Given the description of an element on the screen output the (x, y) to click on. 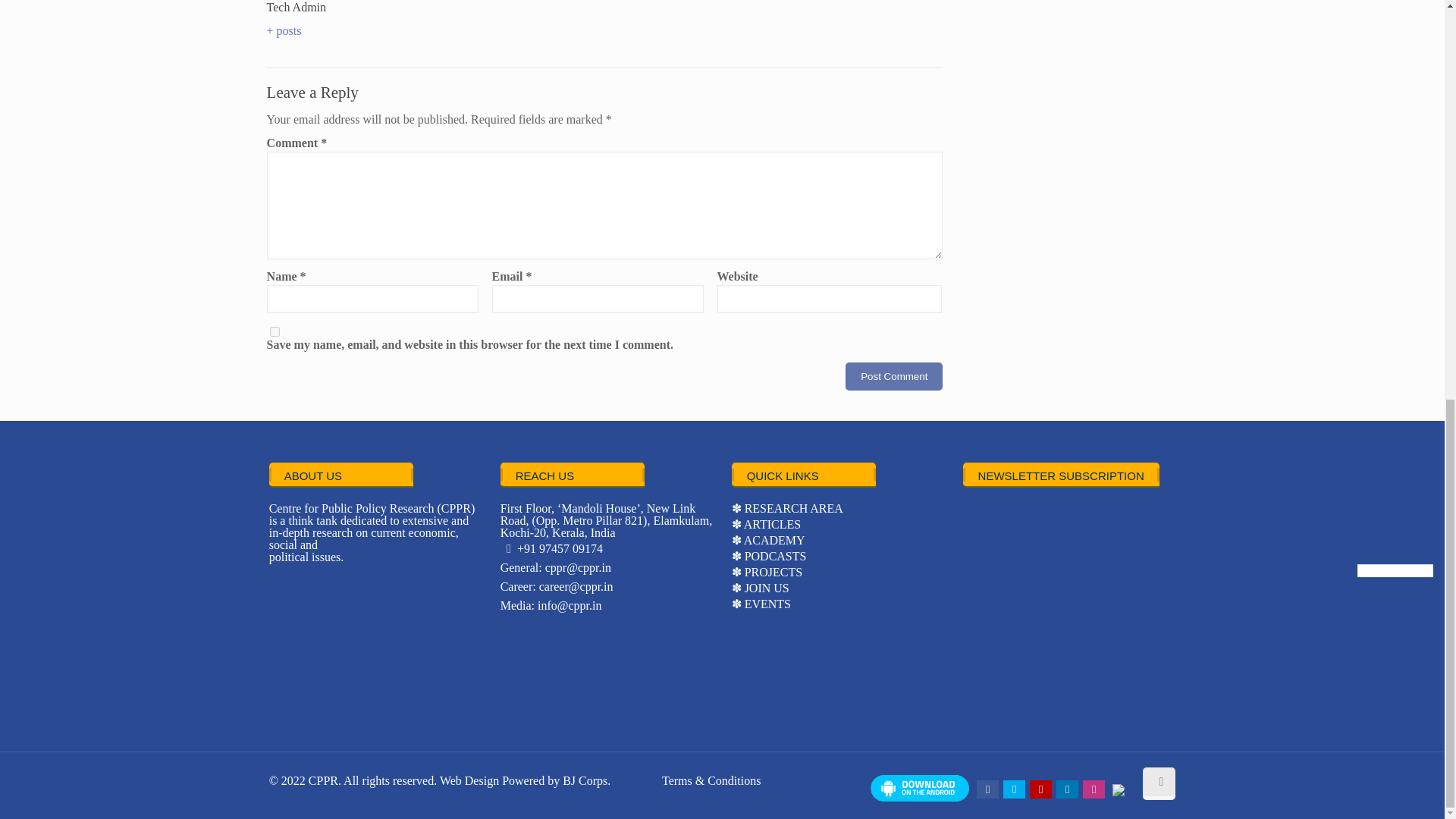
Twitter (1014, 789)
Instagram (1094, 789)
LinkedIn (1067, 789)
Facebook (987, 789)
YouTube (1040, 789)
Telegram (1117, 791)
yes (274, 331)
Post Comment (893, 376)
